Given the description of an element on the screen output the (x, y) to click on. 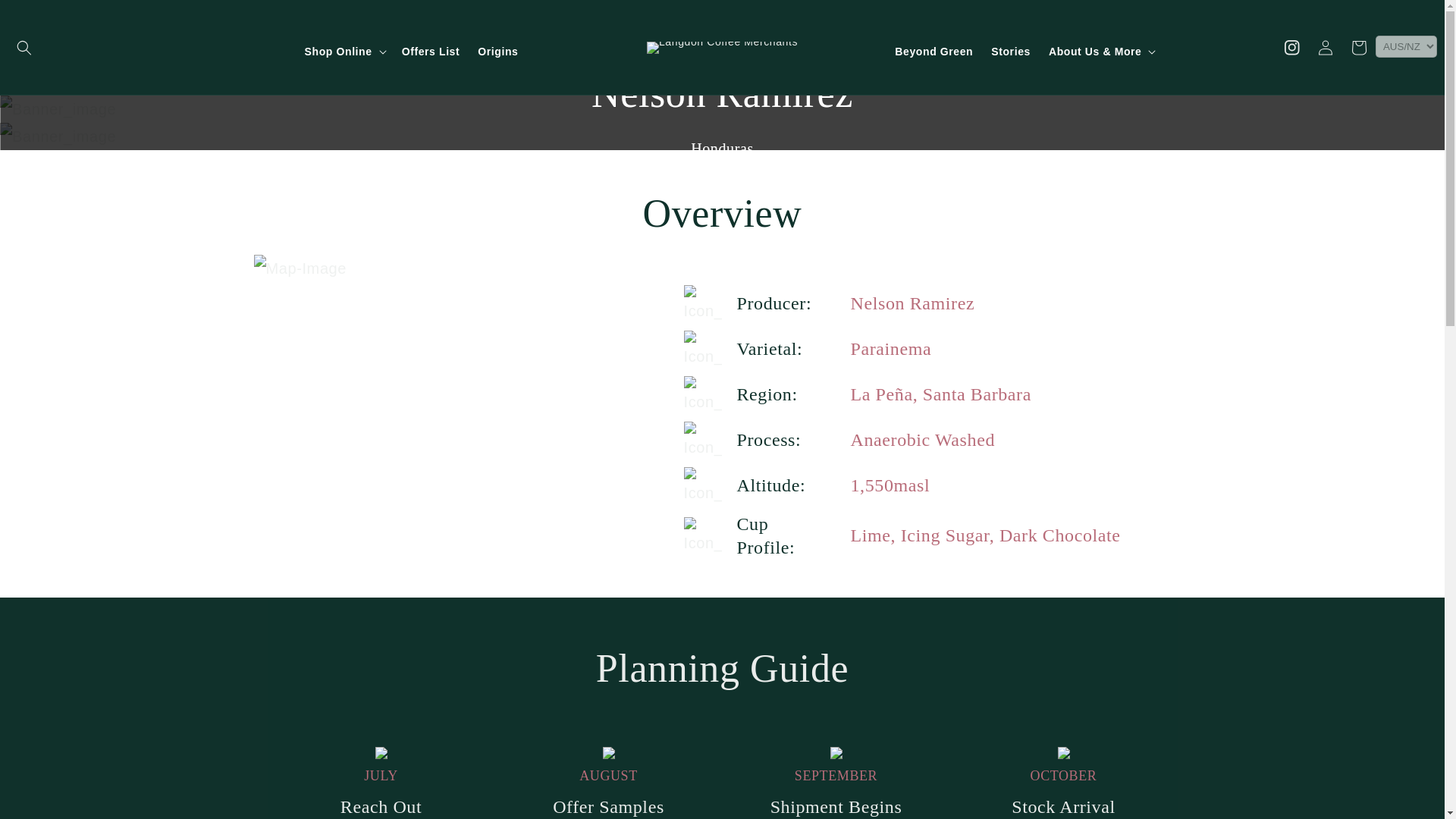
Beyond Green (933, 51)
Origins (497, 51)
Offers List (430, 51)
Log in (1325, 46)
Stories (1010, 51)
Skip to content (45, 16)
Cart (1358, 46)
